Given the description of an element on the screen output the (x, y) to click on. 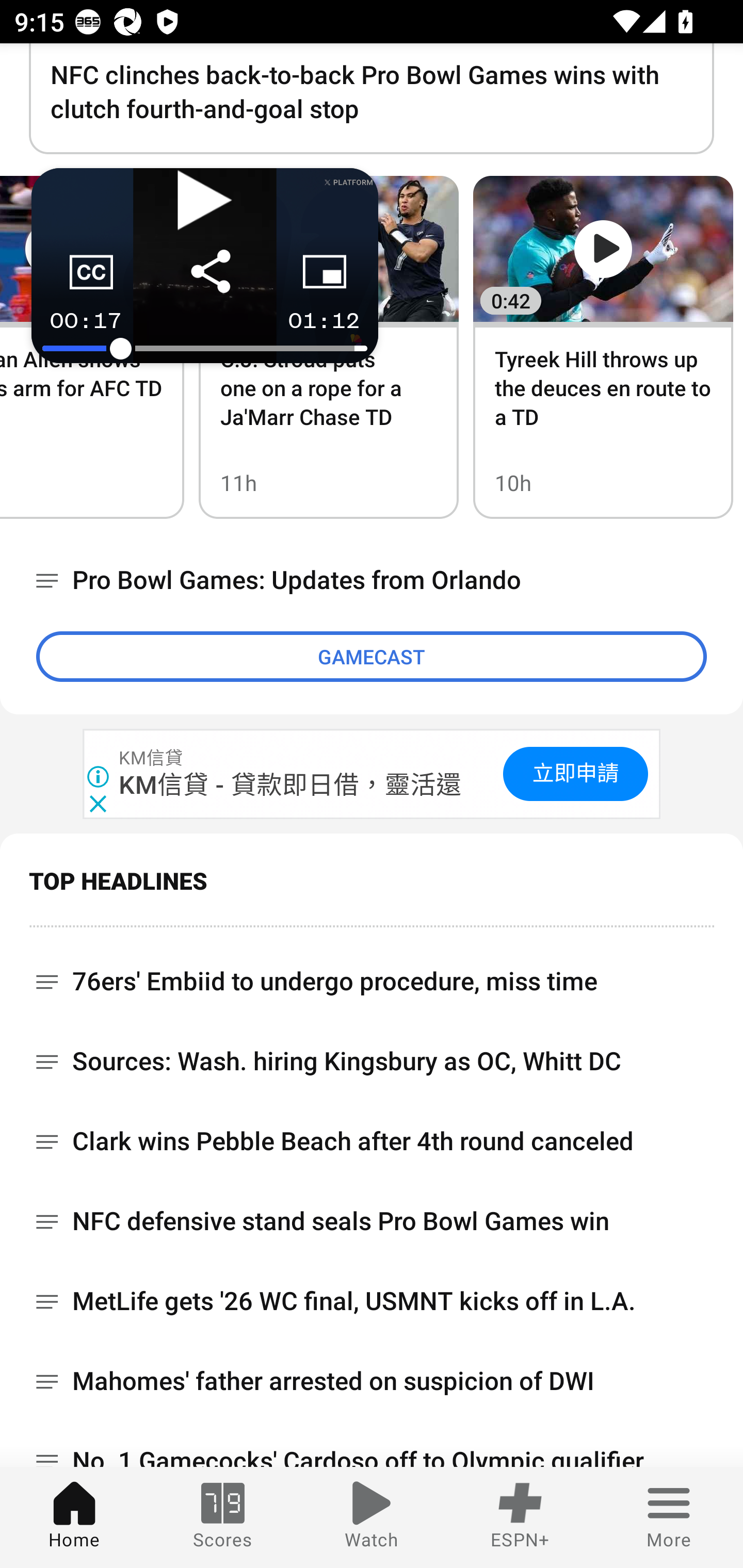
 Keenan Allen shows off his arm for AFC TD 12h (92, 347)
 Pro Bowl Games: Updates from Orlando (371, 580)
GAMECAST (371, 656)
KM信貸 (151, 757)
立即申請 (575, 773)
KM信貸 - 貸款即日借，靈活還 (290, 784)
 76ers' Embiid to undergo procedure, miss time (371, 974)
 Sources: Wash. hiring Kingsbury as OC, Whitt DC (371, 1062)
 Clark wins Pebble Beach after 4th round canceled (371, 1142)
 NFC defensive stand seals Pro Bowl Games win (371, 1222)
 Mahomes' father arrested on suspicion of DWI (371, 1382)
Scores (222, 1517)
Watch (371, 1517)
ESPN+ (519, 1517)
More (668, 1517)
